Given the description of an element on the screen output the (x, y) to click on. 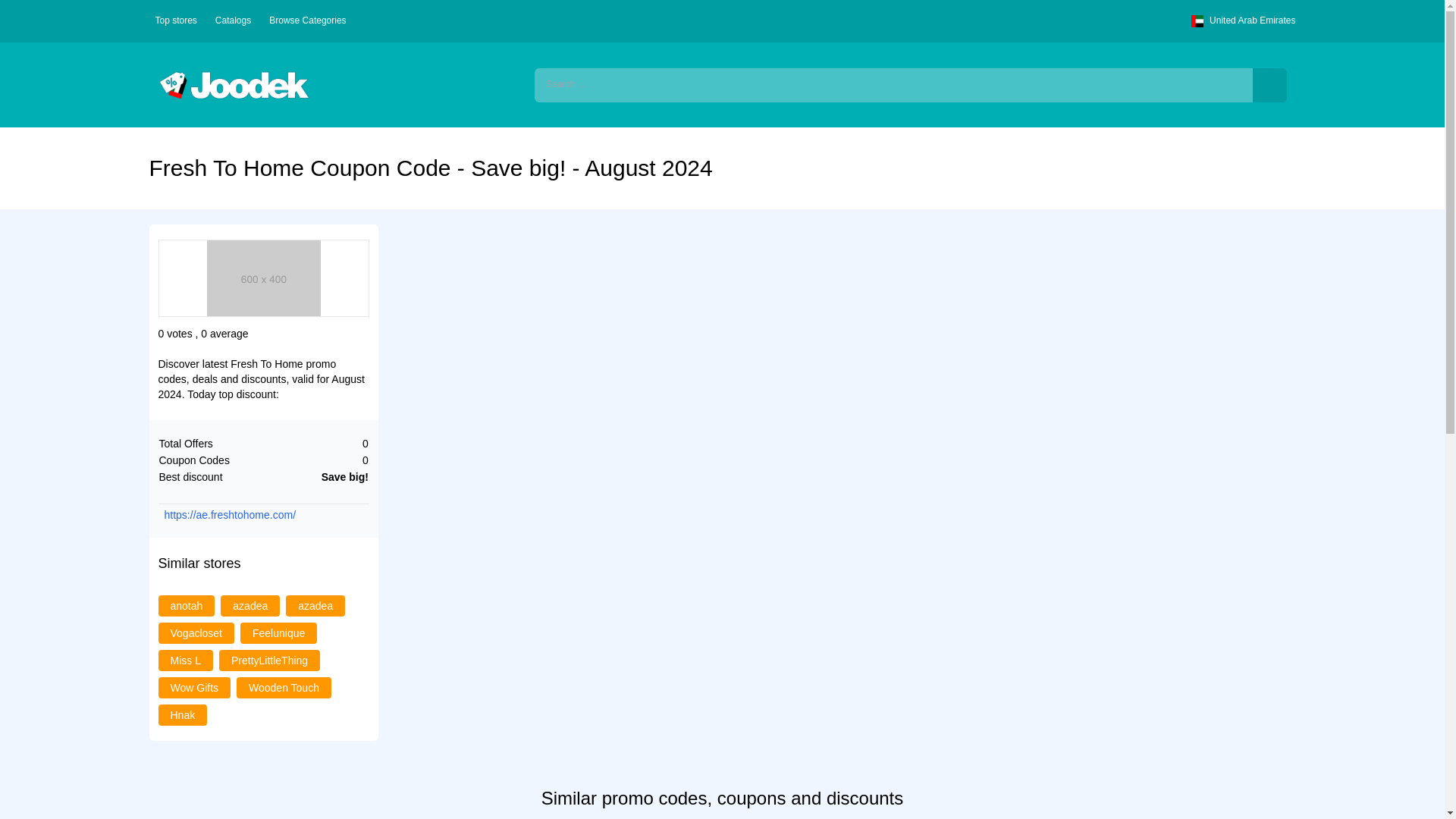
Miss L (185, 660)
Feelunique (277, 633)
azadea (249, 605)
Hnak (182, 715)
azadea (315, 605)
Wooden Touch (283, 687)
Browse Categories (304, 21)
Top stores (172, 21)
United Arab Emirates (1240, 21)
PrettyLittleThing (269, 660)
